Given the description of an element on the screen output the (x, y) to click on. 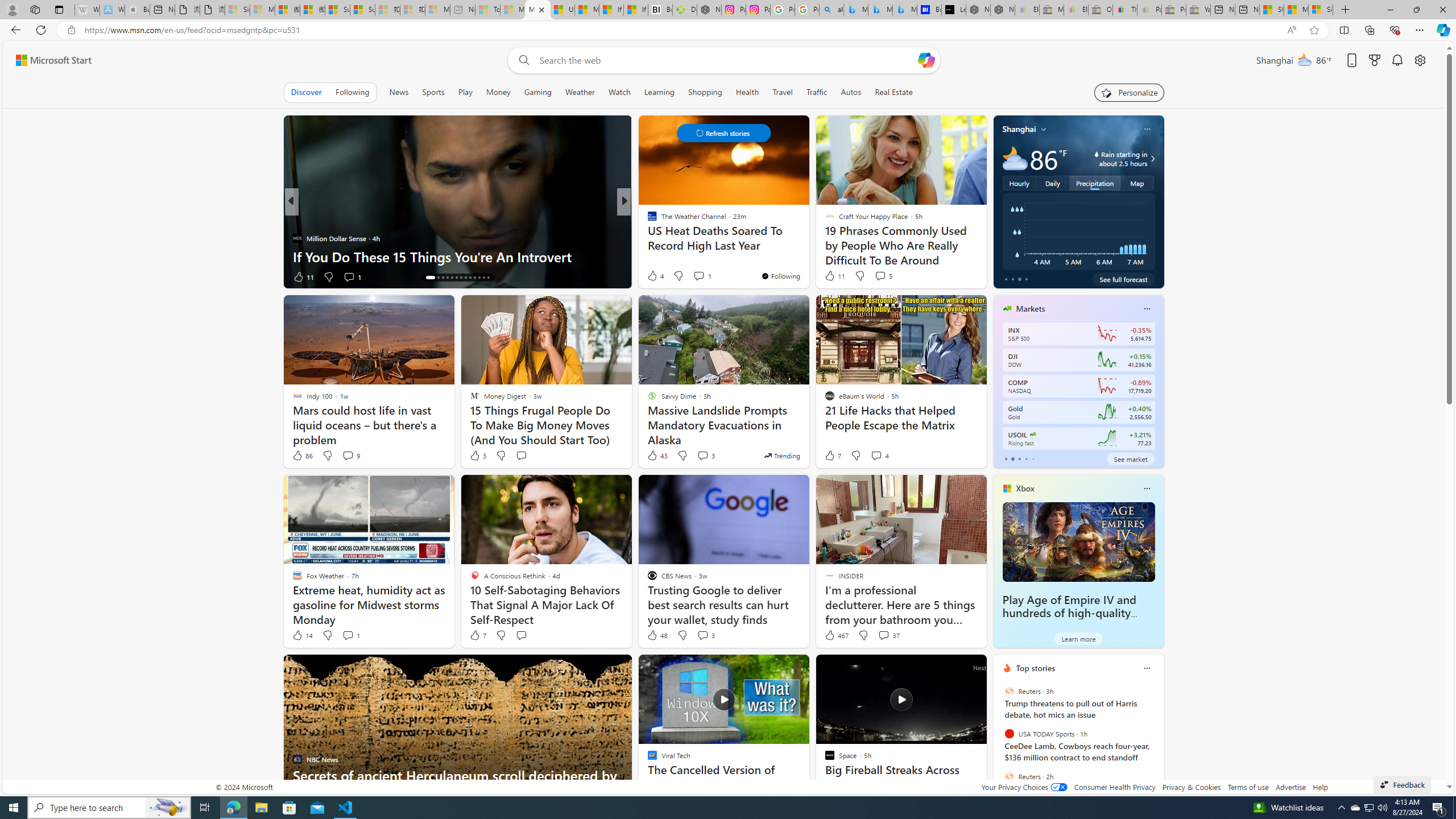
Mostly cloudy (1014, 158)
Class: control (723, 132)
View comments 9 Comment (347, 455)
View comments 35 Comment (707, 276)
Microsoft account | Account Checkup - Sleeping (437, 9)
Buy iPad - Apple - Sleeping (136, 9)
AutomationID: tab-20 (460, 277)
Mostly cloudy (1014, 158)
